Given the description of an element on the screen output the (x, y) to click on. 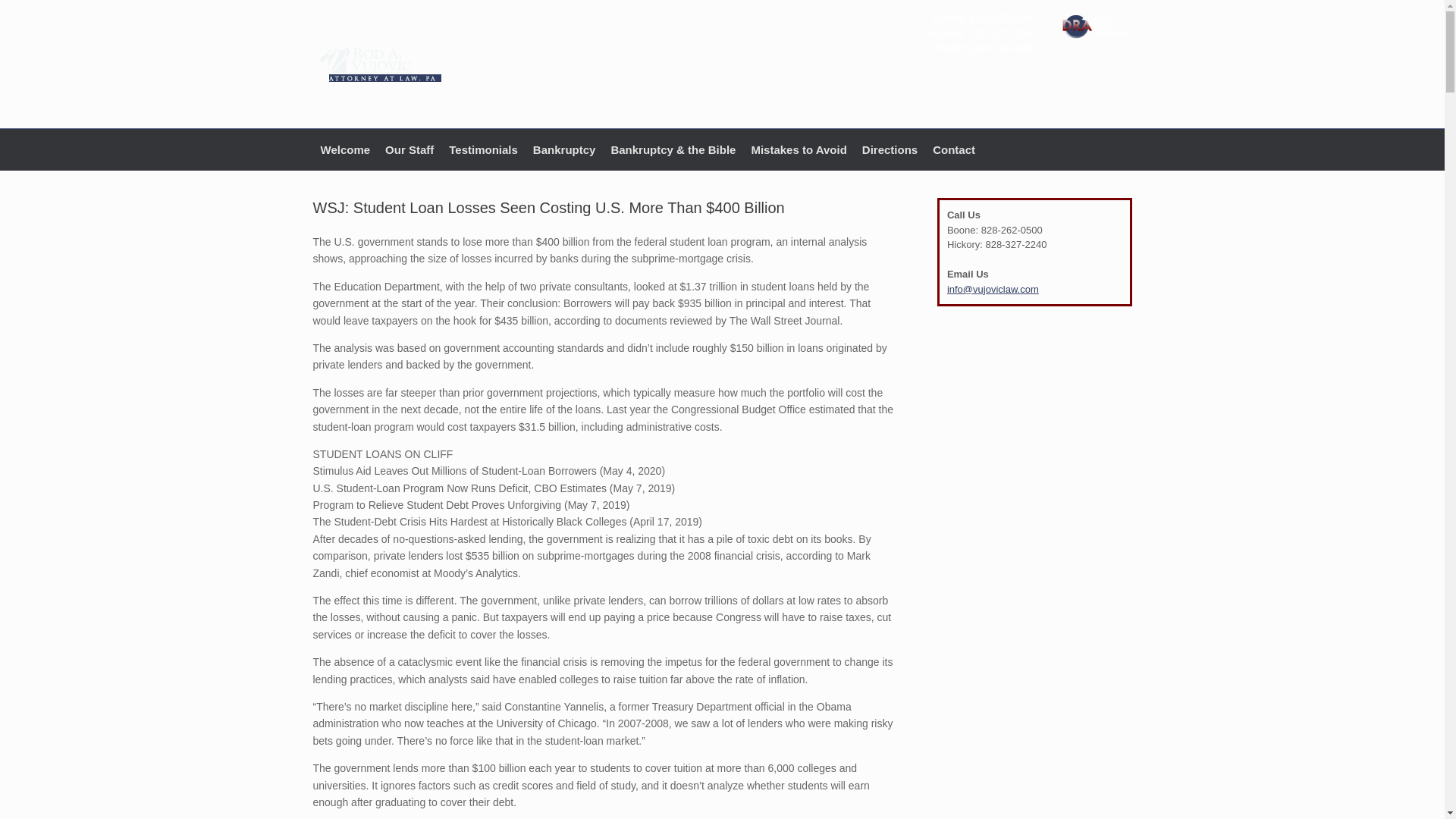
Contact (953, 149)
Testimonials (483, 149)
Our Staff (409, 149)
Welcome (345, 149)
Mistakes to Avoid (797, 149)
Bankruptcy (564, 149)
Vujovic Law (379, 64)
Directions (889, 149)
